Given the description of an element on the screen output the (x, y) to click on. 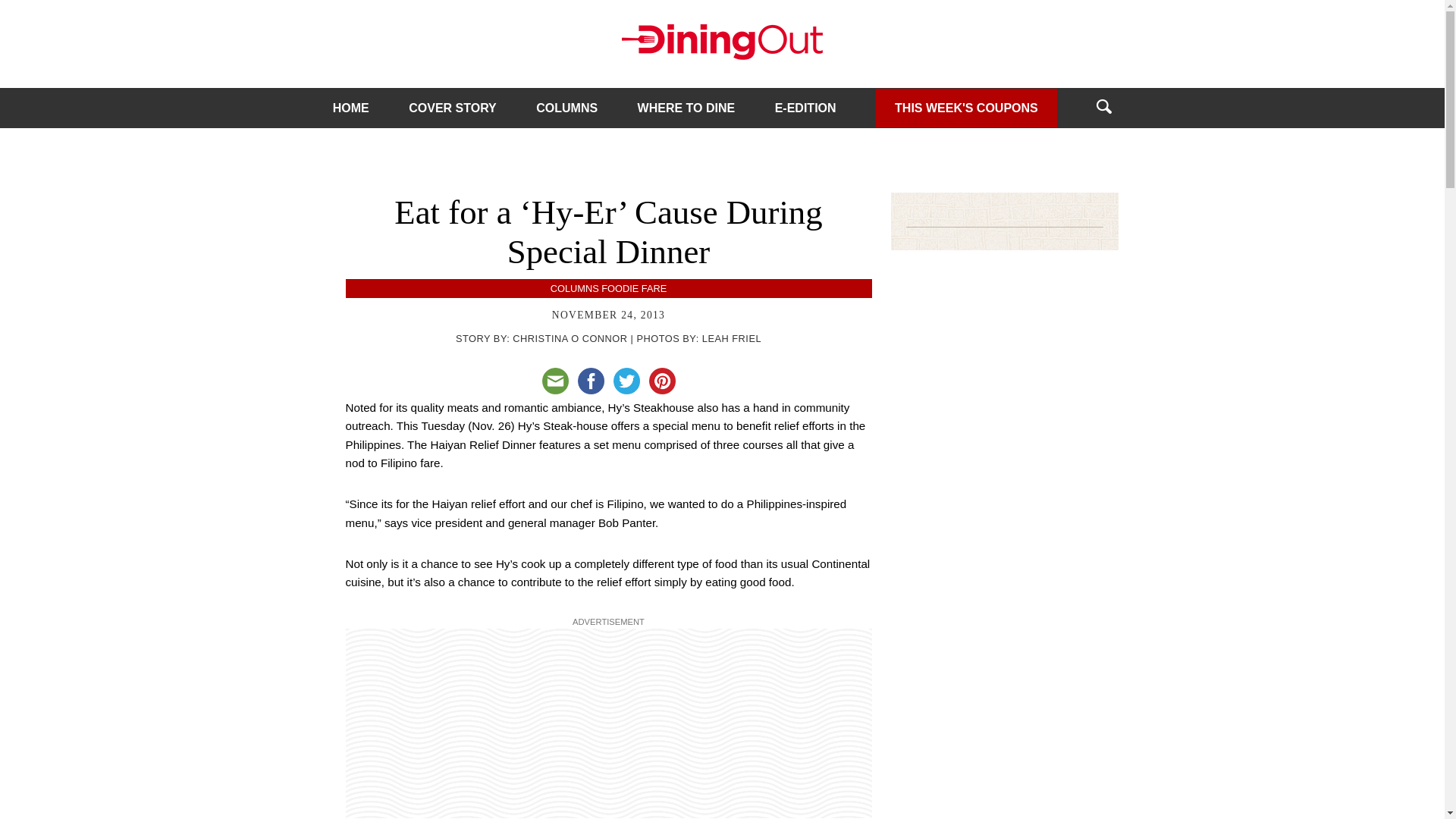
FOODIE FARE (633, 288)
THIS WEEK'S COUPONS (966, 106)
COVER STORY (452, 107)
facebook (590, 380)
pinterest (662, 380)
3rd party ad content (608, 722)
WHERE TO DINE (686, 107)
email (554, 380)
COLUMNS (574, 288)
twitter (625, 380)
Foodie Fare (633, 288)
HOME (351, 107)
Columns (574, 288)
